Given the description of an element on the screen output the (x, y) to click on. 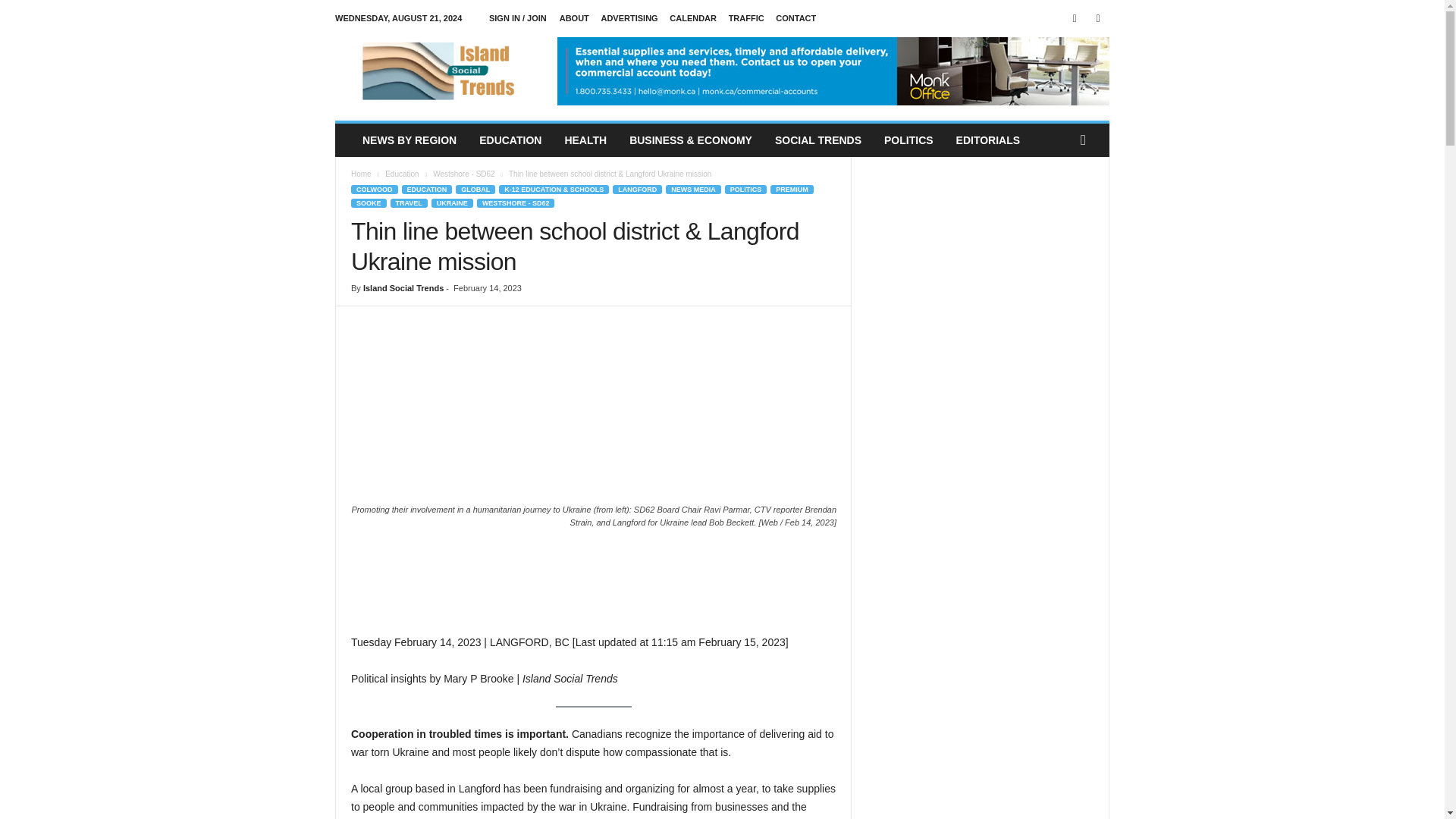
Island Social Trends - news insights on Vancouver Island, BC (438, 70)
View all posts in Education (402, 173)
View all posts in Westshore - SD62 (463, 173)
